Given the description of an element on the screen output the (x, y) to click on. 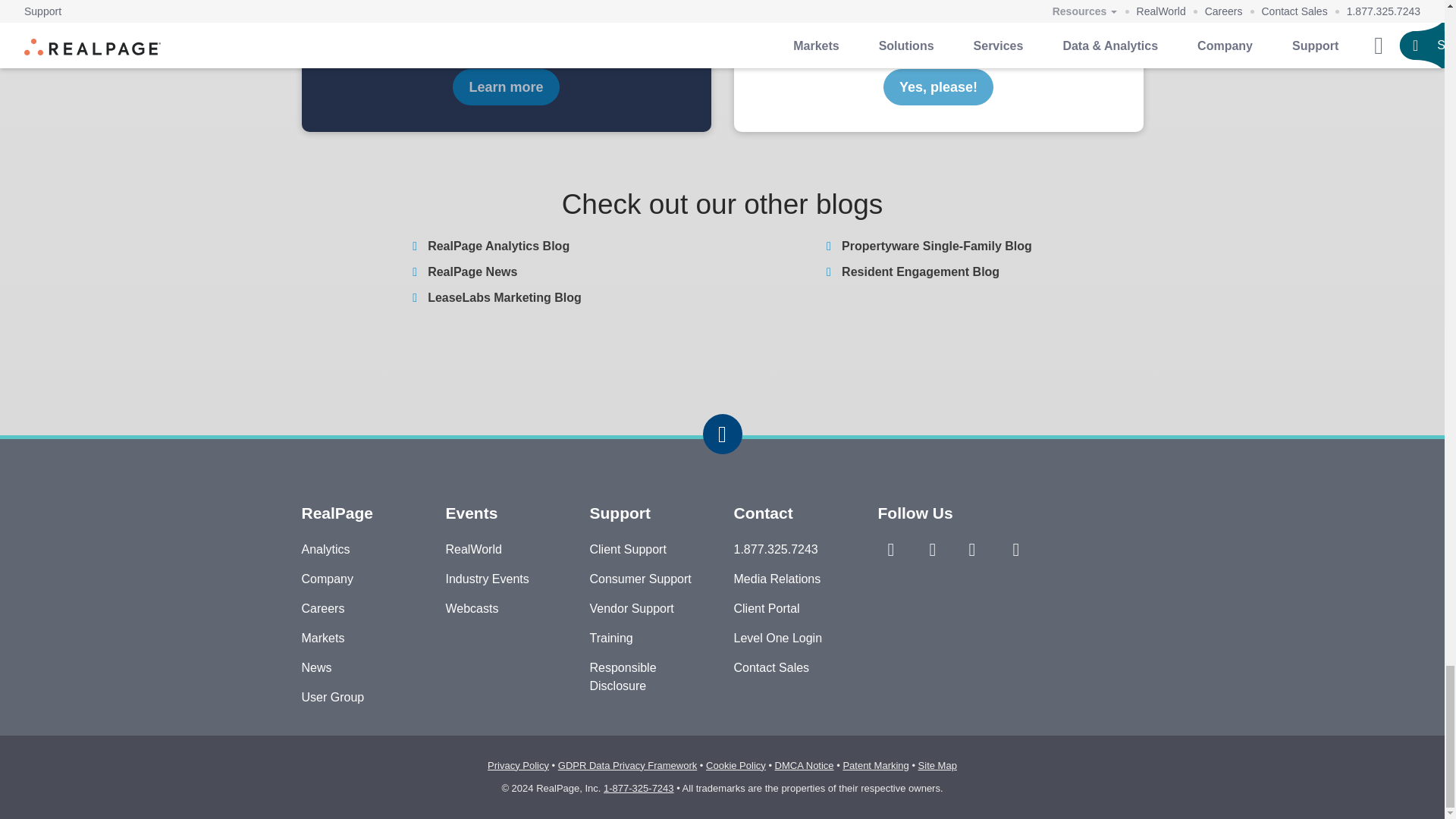
Back to top (721, 434)
